Given the description of an element on the screen output the (x, y) to click on. 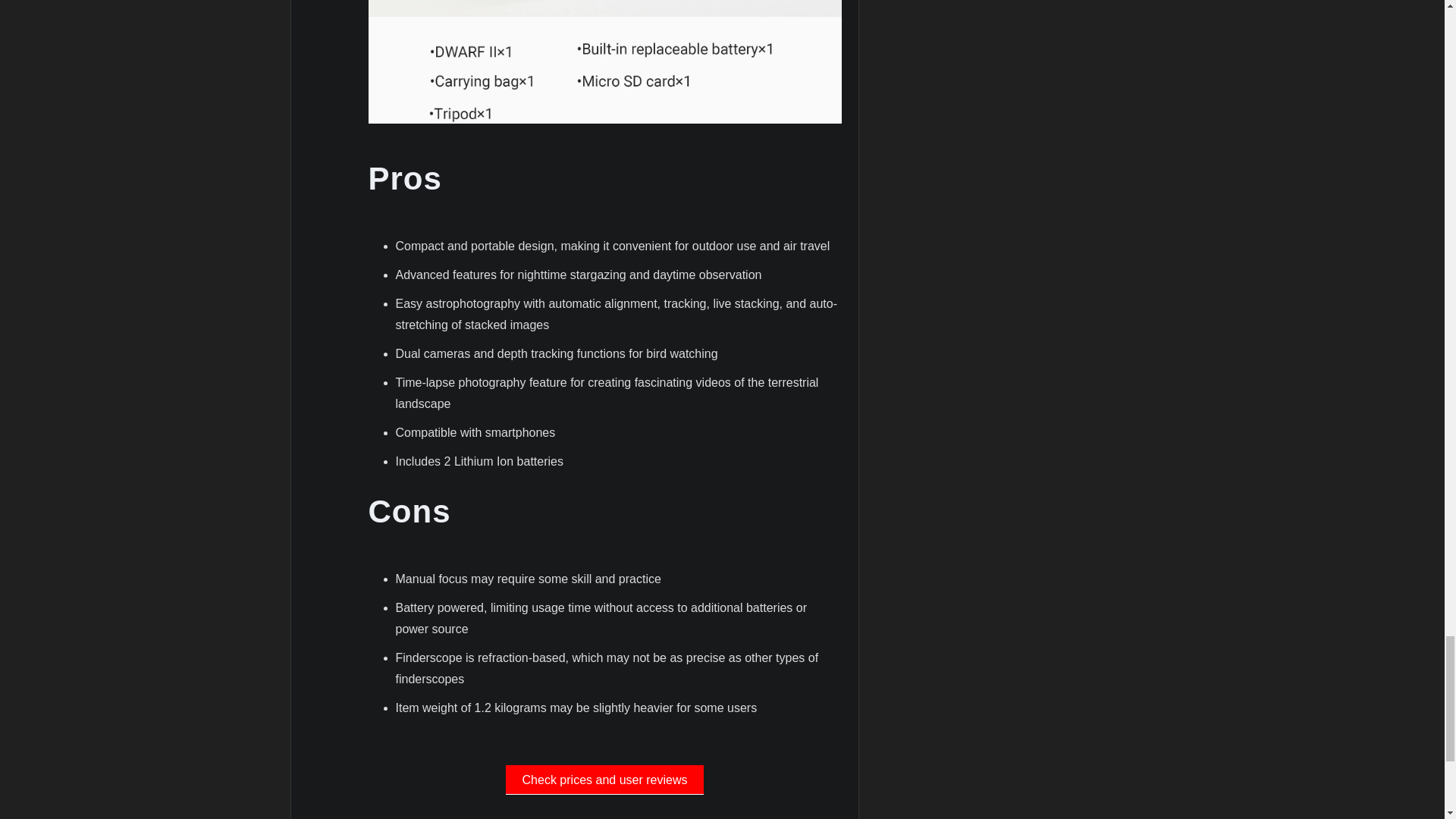
Check prices and user reviews (604, 778)
